Given the description of an element on the screen output the (x, y) to click on. 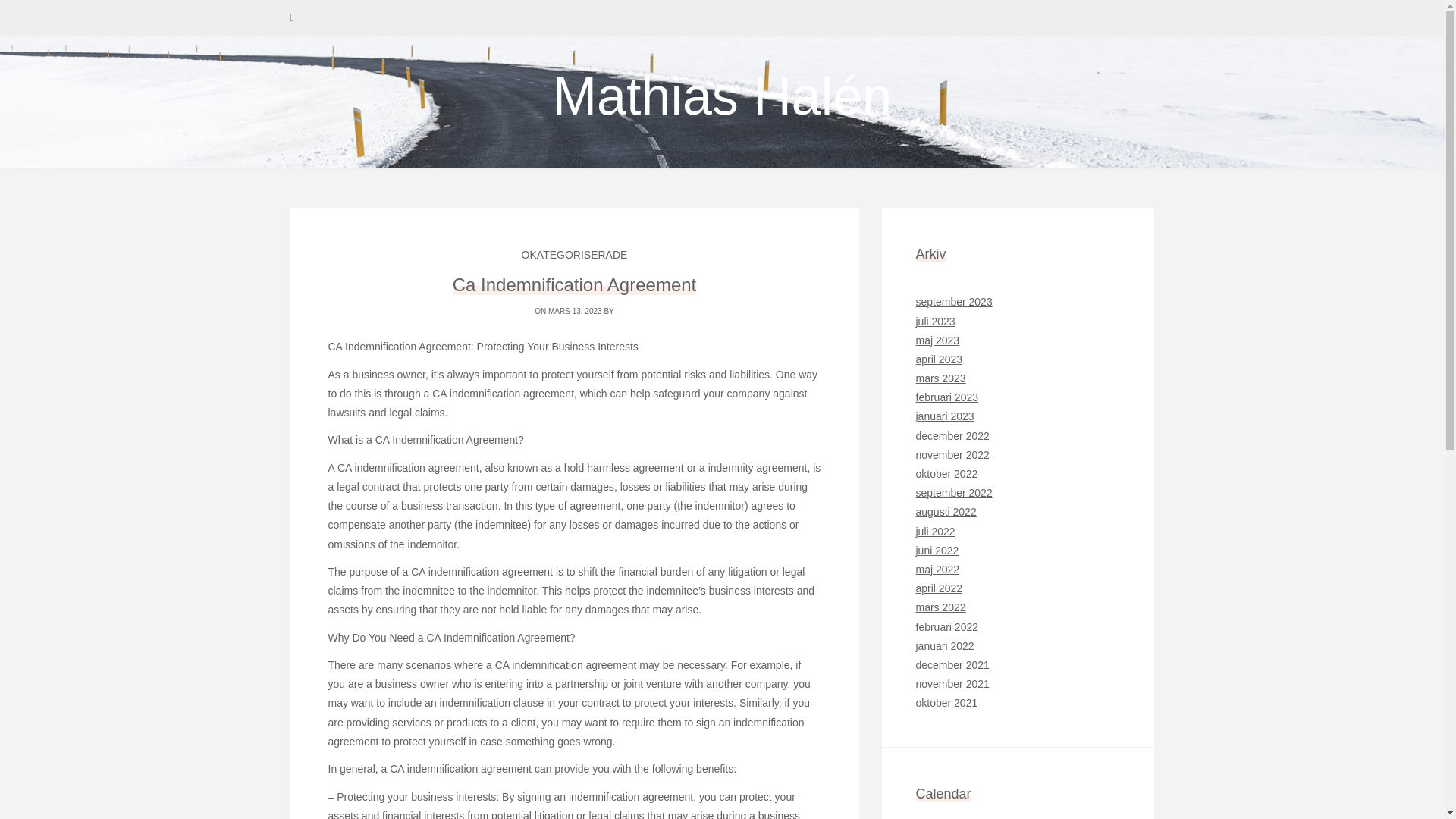
maj 2023 (937, 340)
juli 2023 (935, 321)
januari 2023 (944, 416)
april 2023 (938, 358)
september 2023 (953, 301)
mars 2023 (940, 378)
februari 2023 (946, 397)
